Given the description of an element on the screen output the (x, y) to click on. 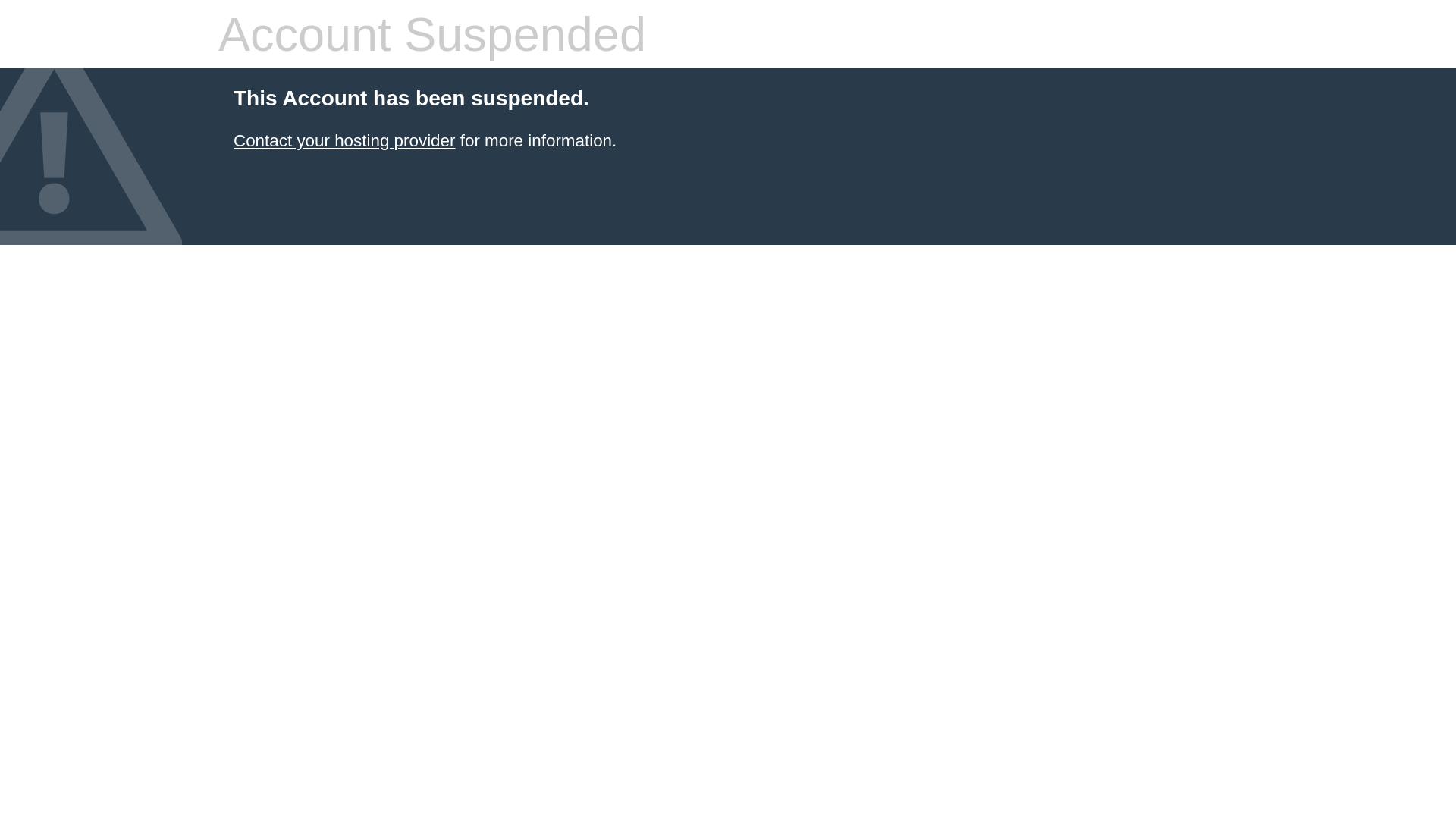
Contact your hosting provider Element type: text (344, 140)
